Given the description of an element on the screen output the (x, y) to click on. 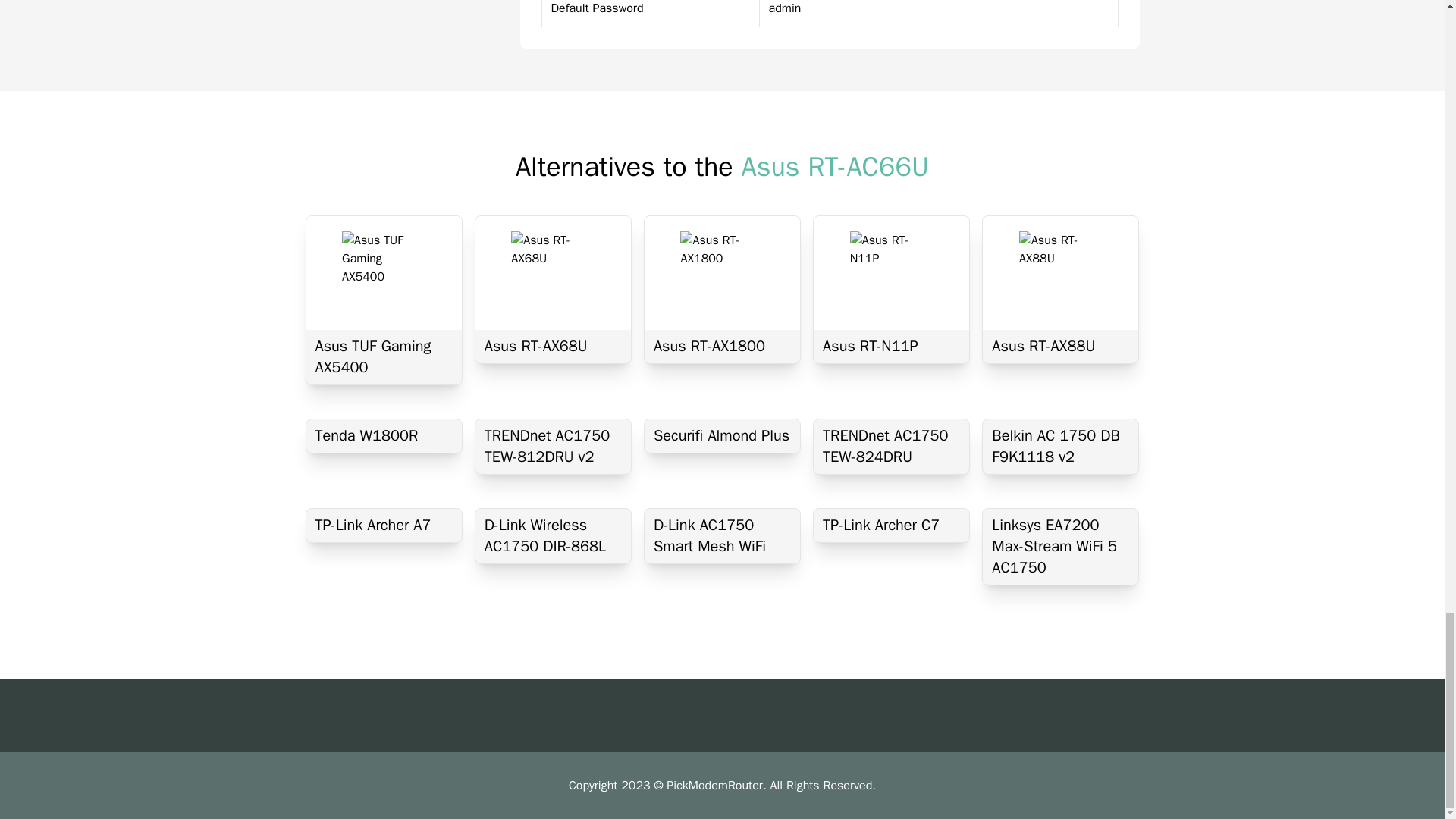
D-Link AC1750 Smart Mesh WiFi (722, 535)
TRENDnet AC1750 TEW-812DRU v2 (553, 446)
Tenda W1800R (383, 435)
Asus RT-AX1800 (722, 346)
Belkin AC 1750 DB F9K1118 v2 (1060, 446)
TP-Link Archer A7 (383, 525)
Securifi Almond Plus (722, 435)
TP-Link Archer C7 (891, 525)
Linksys EA7200 Max-Stream WiFi 5 AC1750 (1060, 546)
Asus RT-N11P (891, 346)
